Given the description of an element on the screen output the (x, y) to click on. 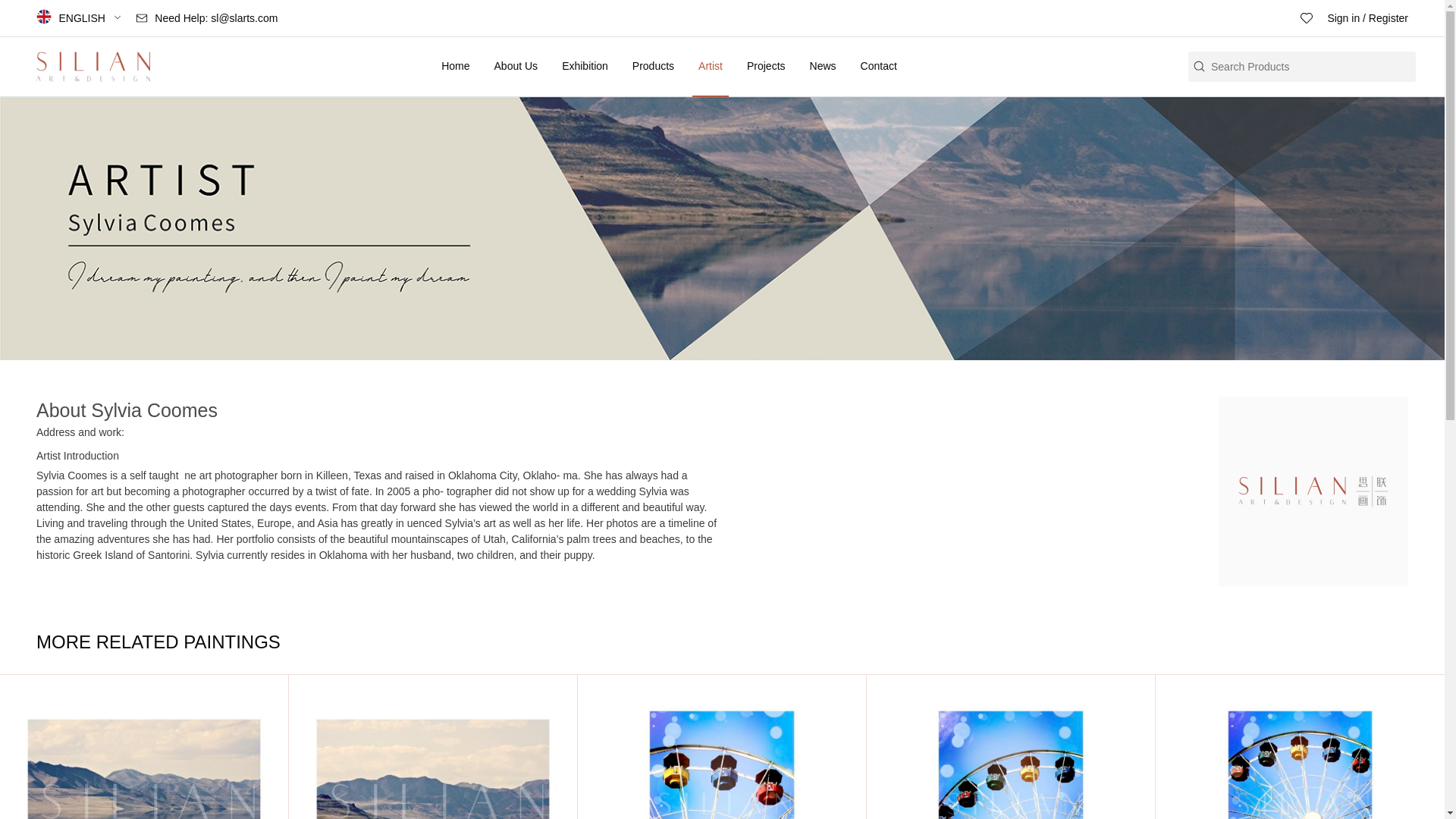
Sign in (1342, 18)
Products (652, 65)
About Us (515, 65)
Home (455, 65)
Exhibition (585, 65)
Register (1387, 18)
